Given the description of an element on the screen output the (x, y) to click on. 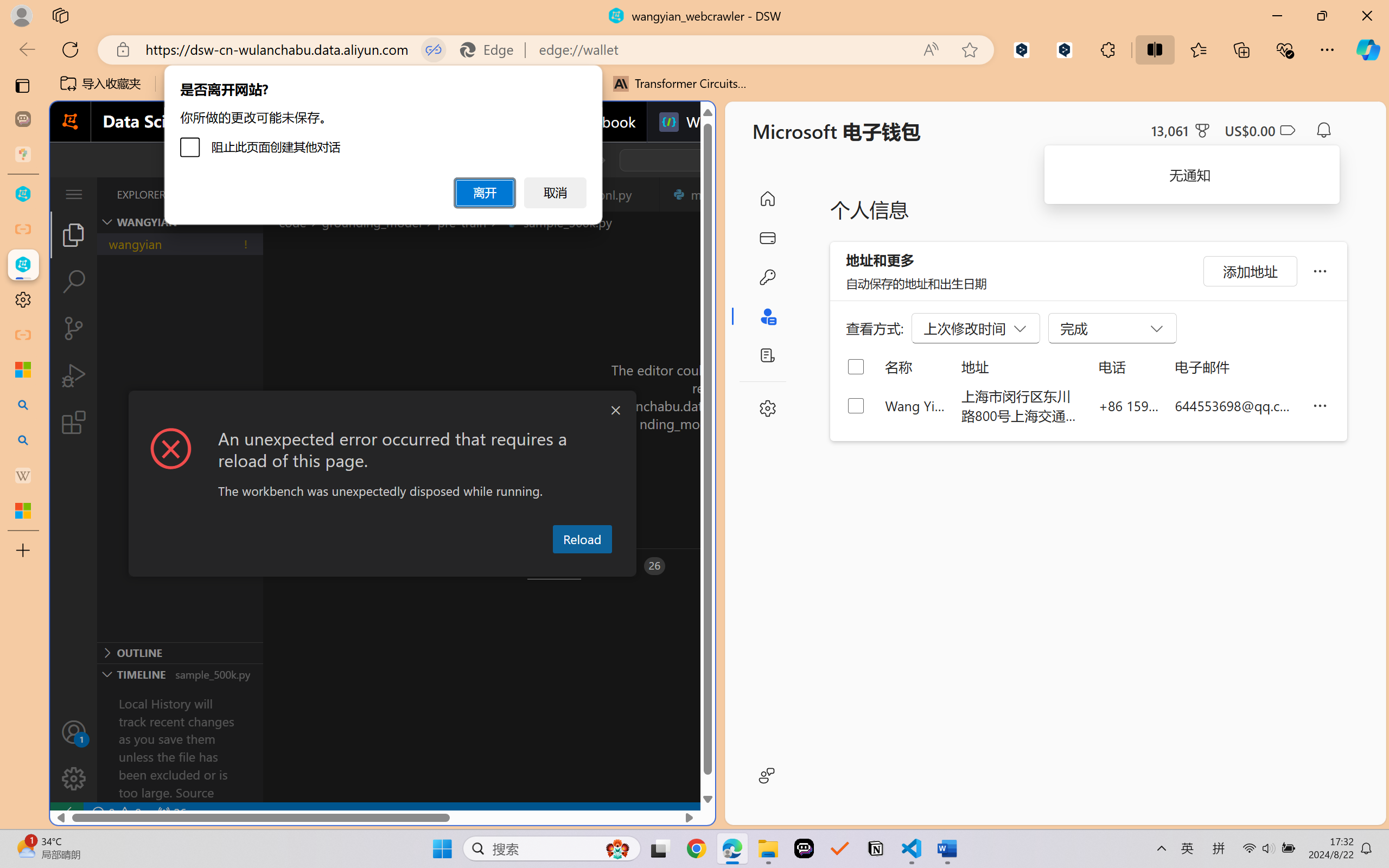
Extensions (Ctrl+Shift+X) (73, 422)
Problems (Ctrl+Shift+M) (308, 565)
Debug Console (Ctrl+Shift+Y) (463, 565)
Run and Debug (Ctrl+Shift+D) (73, 375)
Terminal (Ctrl+`) (553, 565)
